Given the description of an element on the screen output the (x, y) to click on. 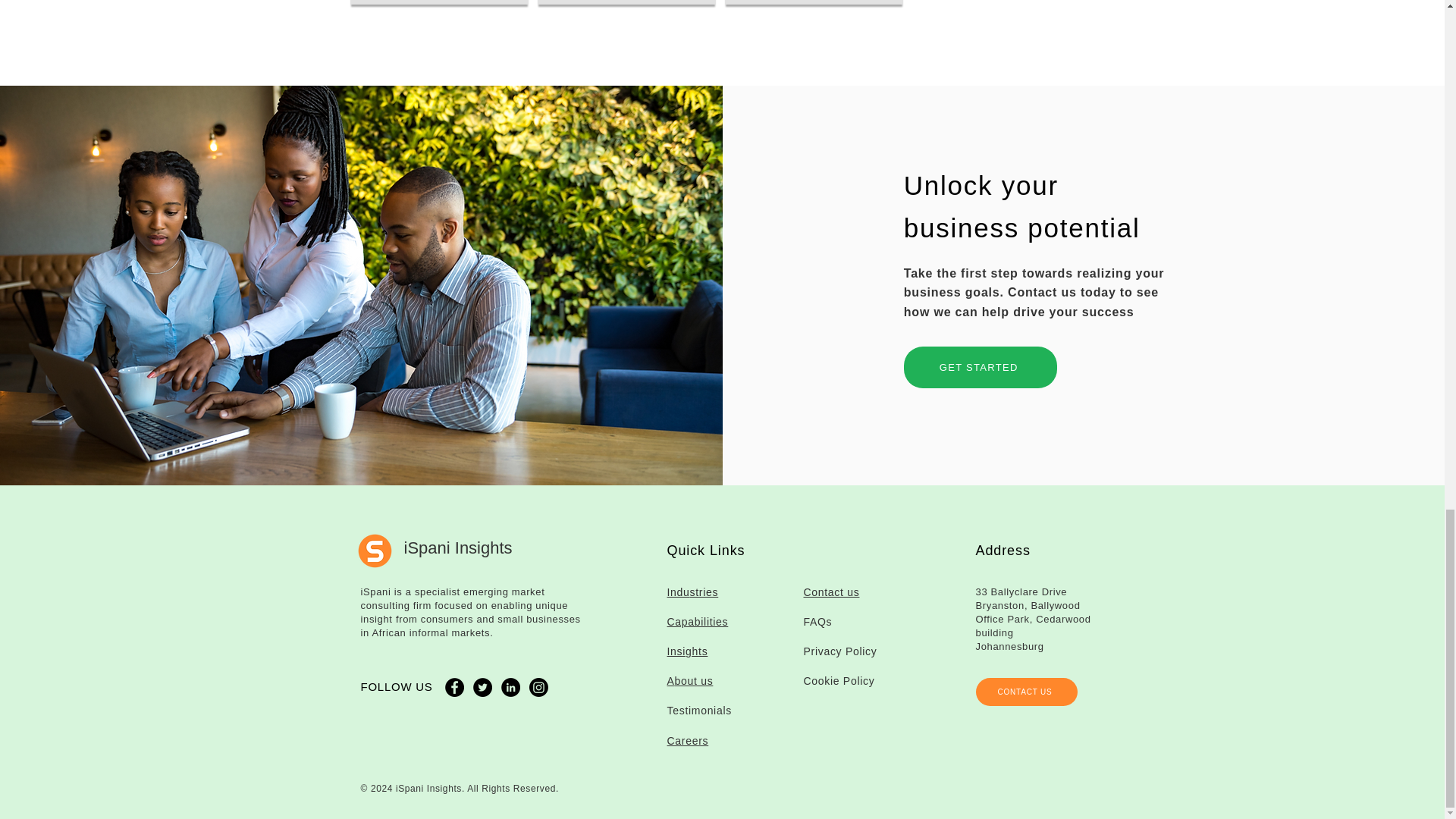
Industries (692, 592)
Careers (687, 739)
iSpani Insights (457, 547)
GET STARTED (980, 367)
CONTACT US (1026, 691)
Contact us (831, 592)
Capabilities (697, 621)
Insights (686, 651)
About us (689, 680)
